Given the description of an element on the screen output the (x, y) to click on. 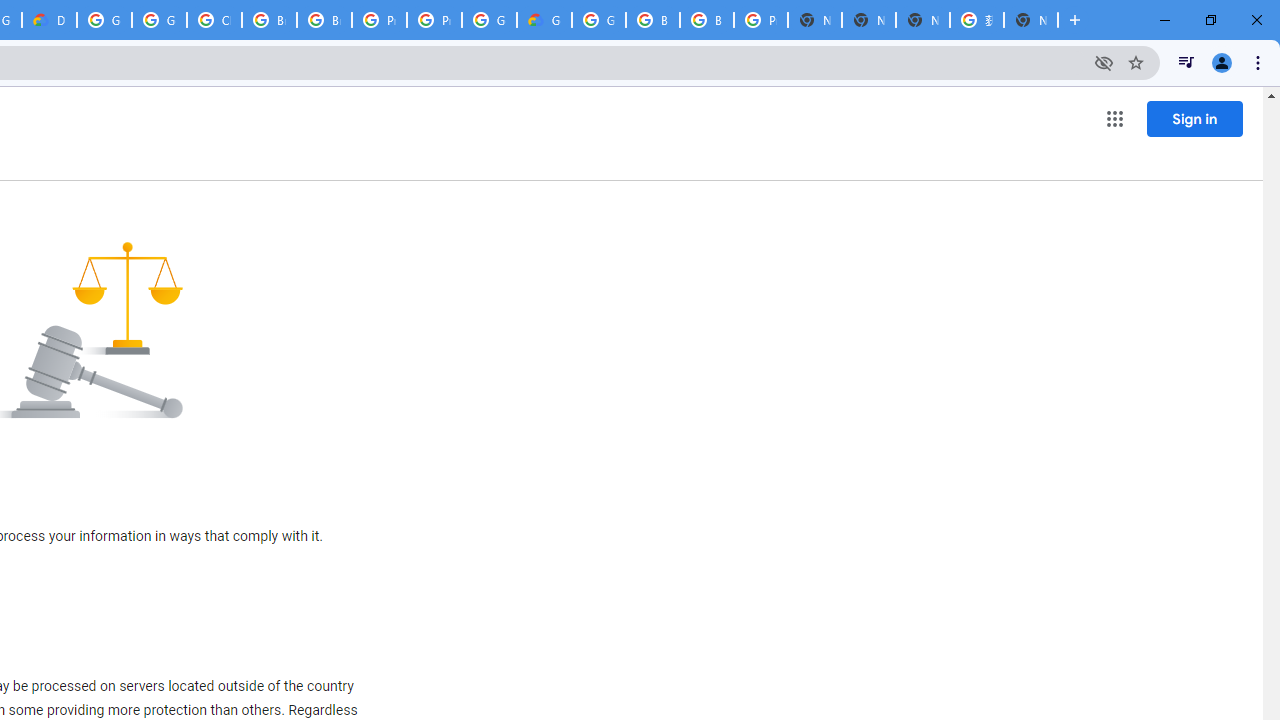
Google Cloud Estimate Summary (544, 20)
Google Cloud Platform (103, 20)
